Given the description of an element on the screen output the (x, y) to click on. 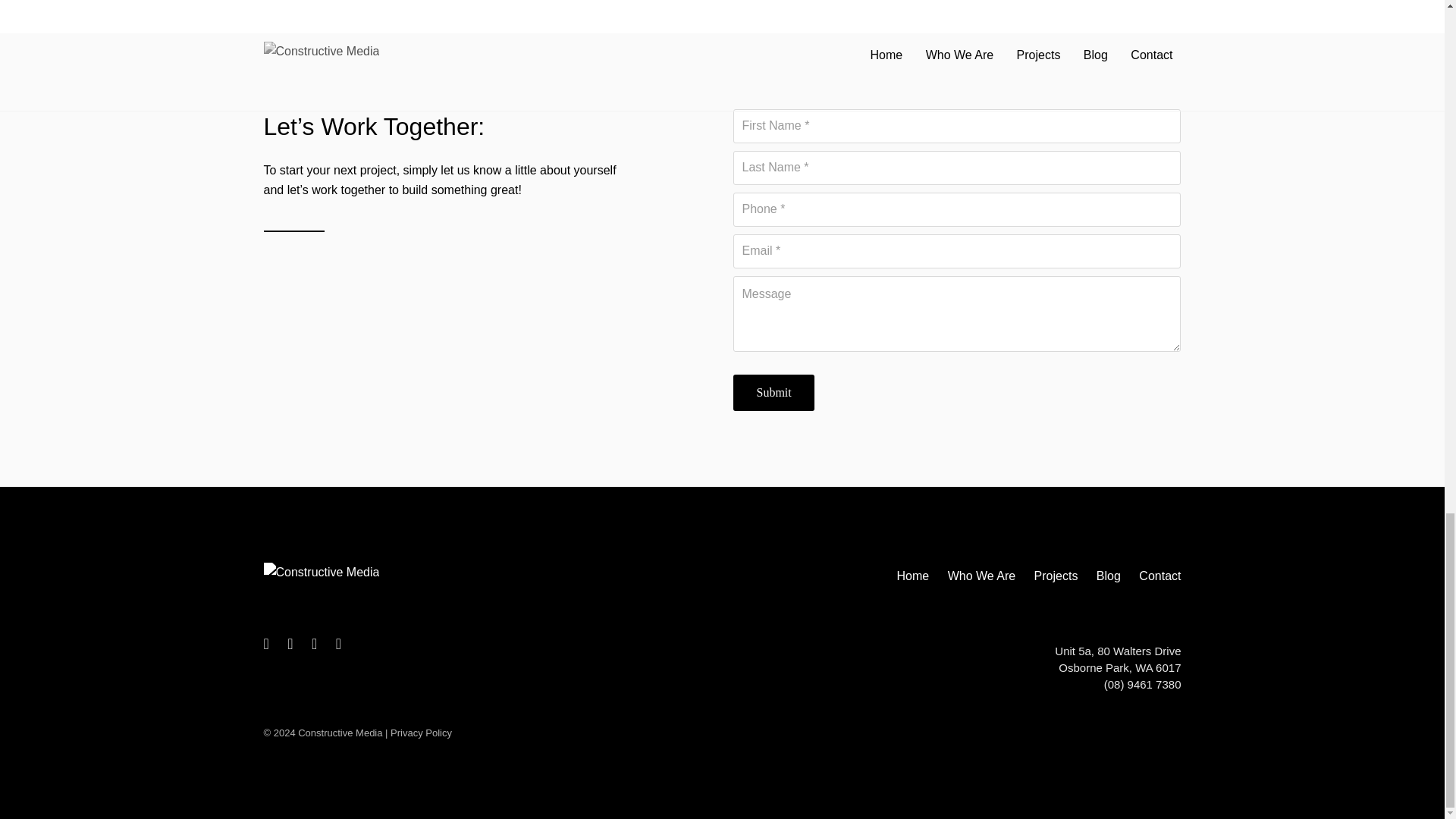
Submit (773, 392)
Submit (773, 392)
Blog (1108, 575)
Privacy Policy (420, 732)
Home (912, 575)
Who We Are (981, 575)
Contact (1155, 575)
Projects (1056, 575)
